Given the description of an element on the screen output the (x, y) to click on. 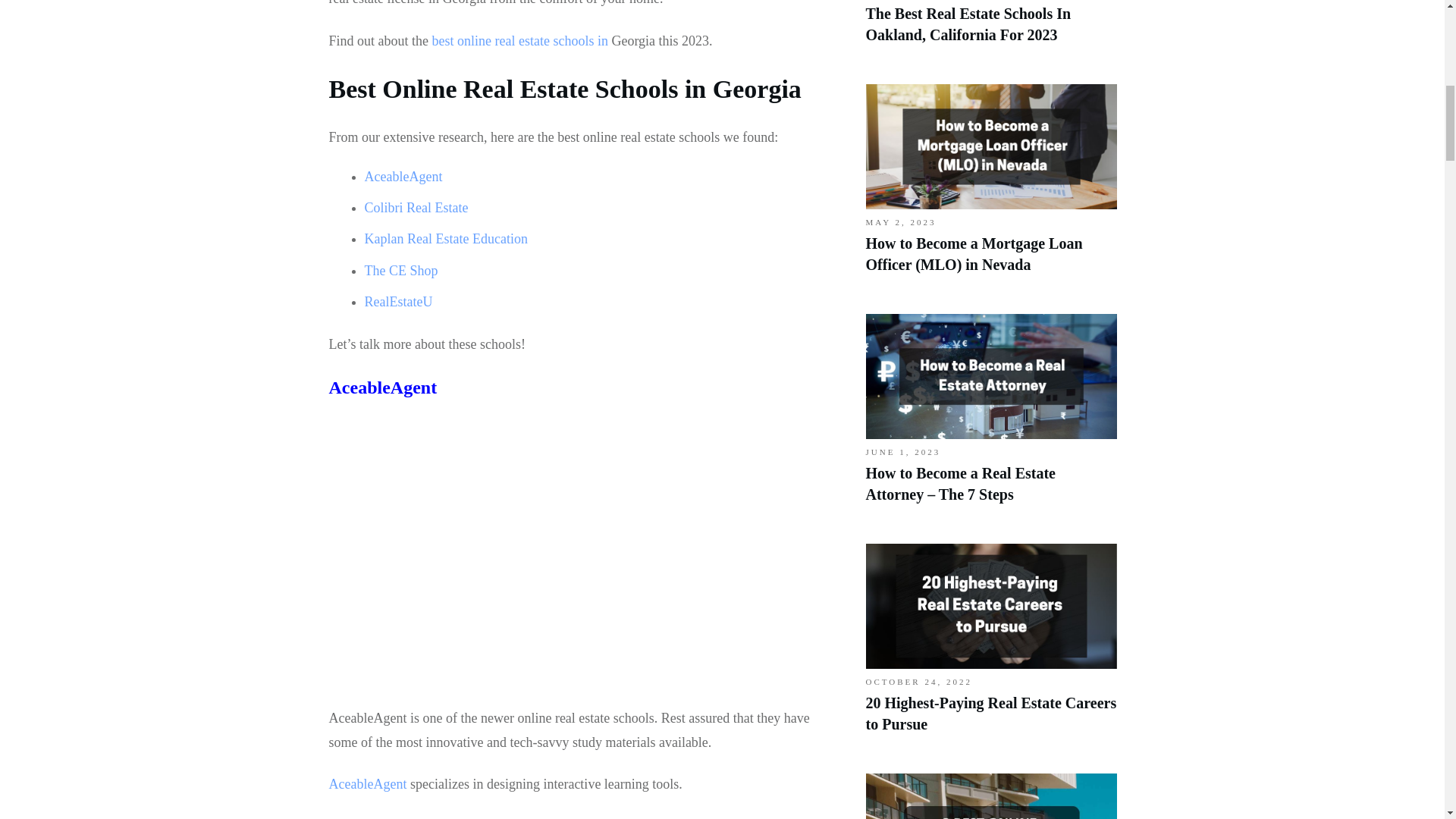
RealEstateU (398, 301)
AceableAgent (383, 387)
20 Highest-Paying Real Estate Careers to Pursue (991, 713)
The CE Shop (401, 270)
best online real estate schools in (520, 40)
Colibri Real Estate (415, 207)
Kaplan Real Estate Education (445, 238)
AceableAgent (403, 176)
AceableAgent (368, 783)
